Given the description of an element on the screen output the (x, y) to click on. 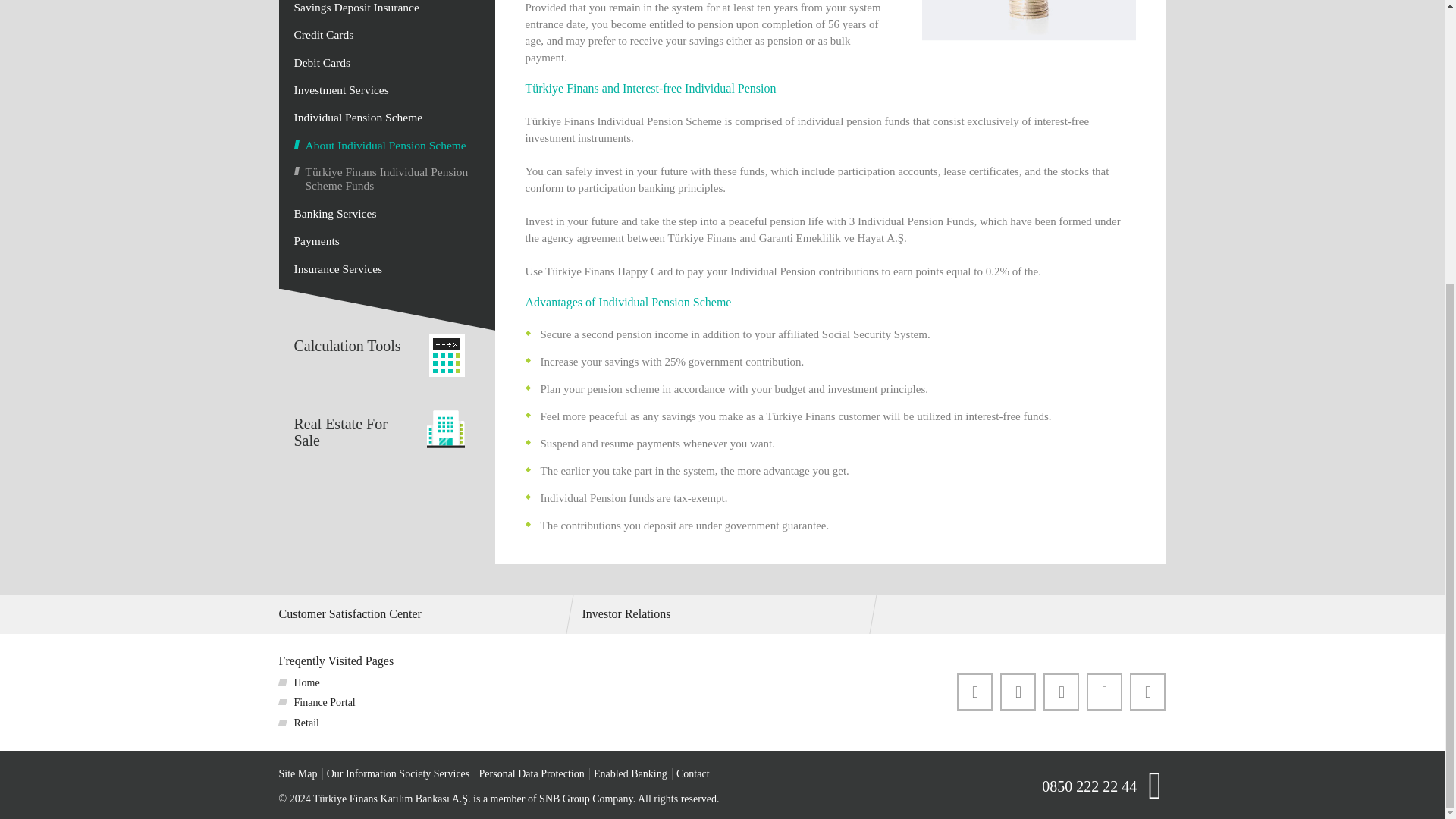
Twitter (1017, 692)
Linkedin (1104, 690)
Facebook (974, 692)
Youtube (1147, 692)
instagram (1061, 692)
